Given the description of an element on the screen output the (x, y) to click on. 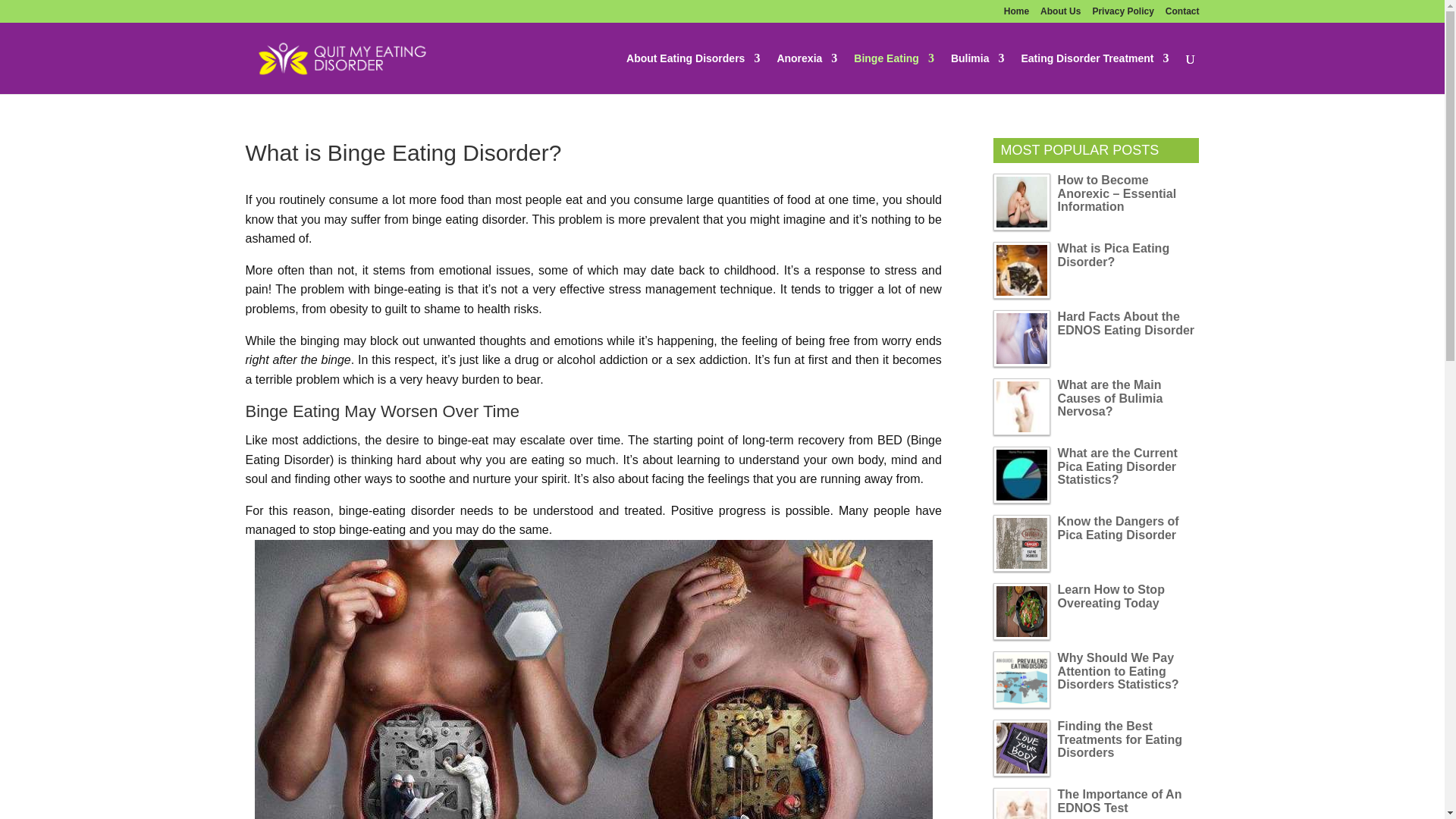
Home (1016, 14)
Know the Dangers of Pica Eating Disorder (1020, 543)
Finding the Best Treatments for Eating Disorders (1020, 747)
Anorexia (806, 73)
Eating Disorder Treatment (1094, 73)
Bulimia (977, 73)
About Us (1060, 14)
The Importance of An EDNOS Test (1020, 803)
Binge Eating (893, 73)
Privacy Policy (1122, 14)
